Given the description of an element on the screen output the (x, y) to click on. 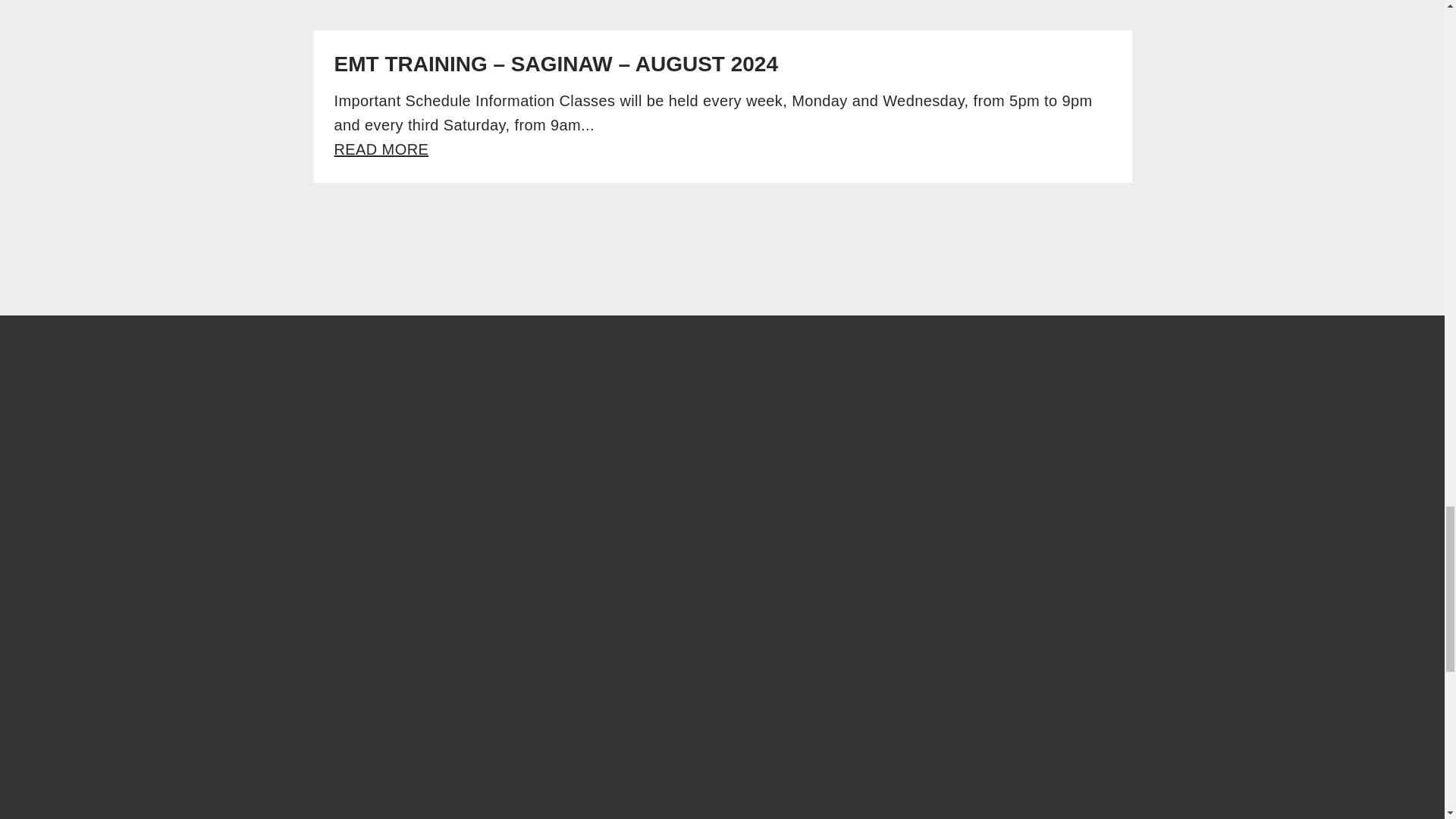
READ MORE (380, 149)
